Given the description of an element on the screen output the (x, y) to click on. 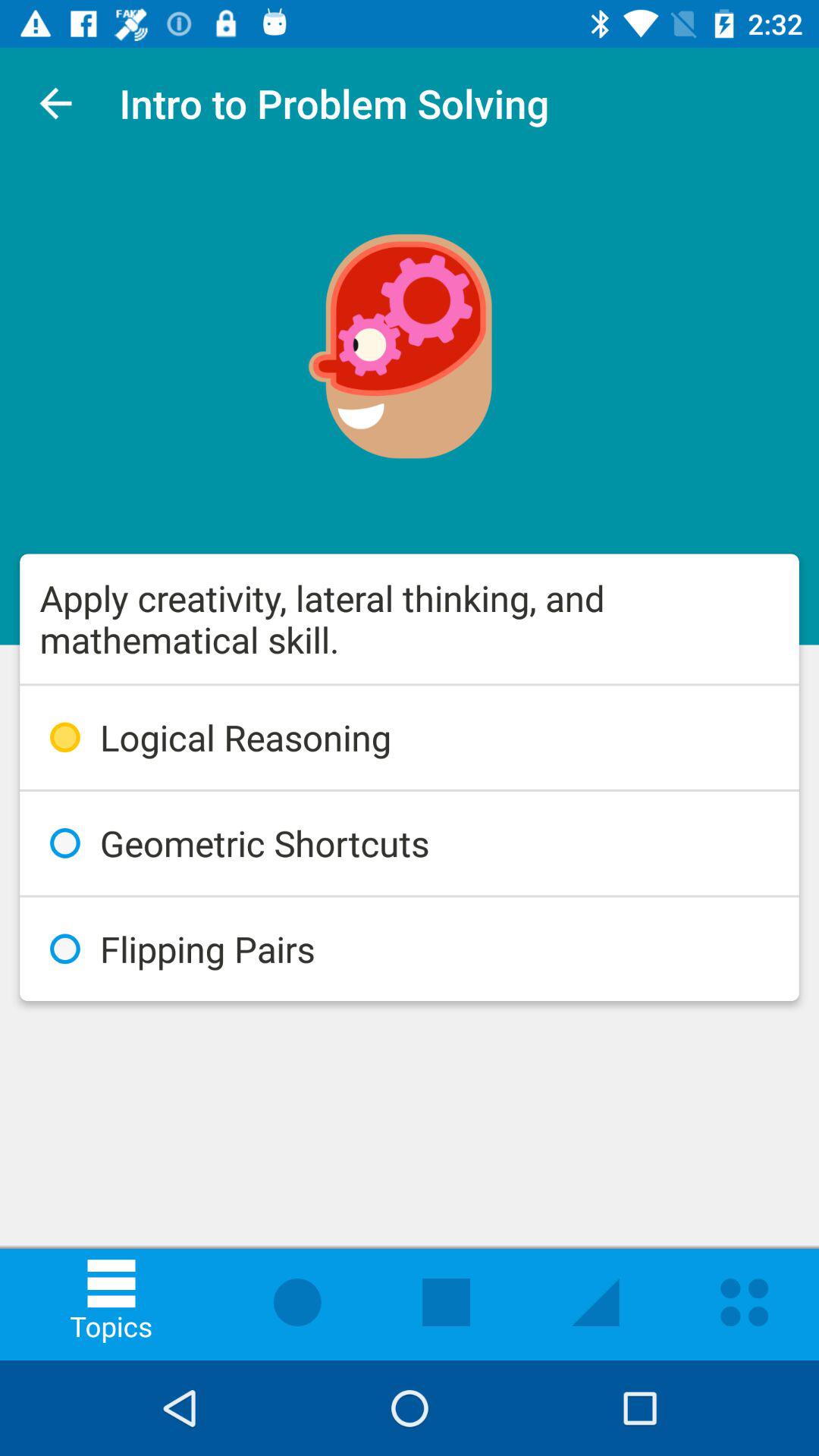
turn off icon above apply creativity lateral icon (55, 103)
